Given the description of an element on the screen output the (x, y) to click on. 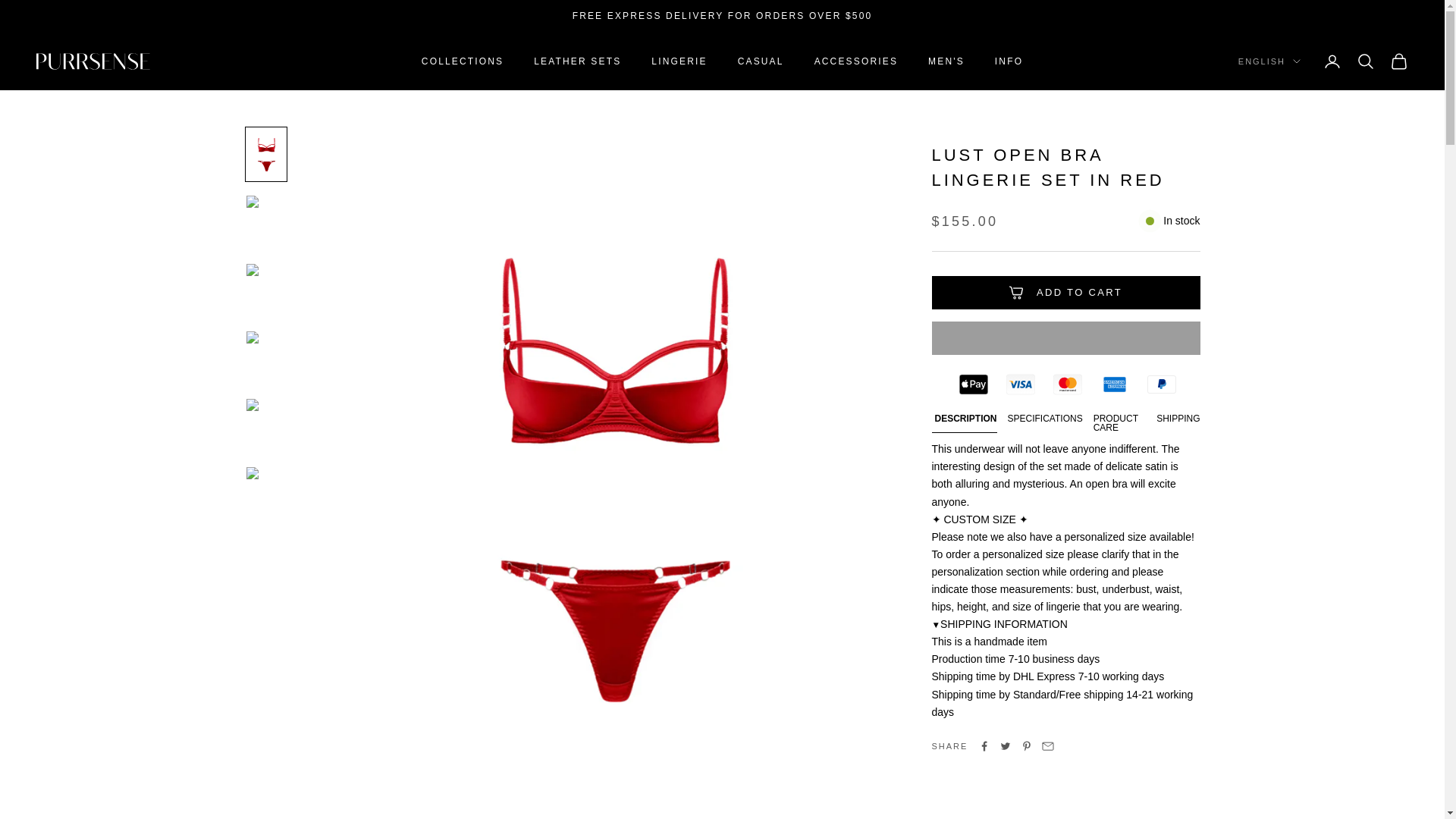
Purrsense (92, 62)
MEN'S (945, 61)
ENGLISH (1269, 61)
